Given the description of an element on the screen output the (x, y) to click on. 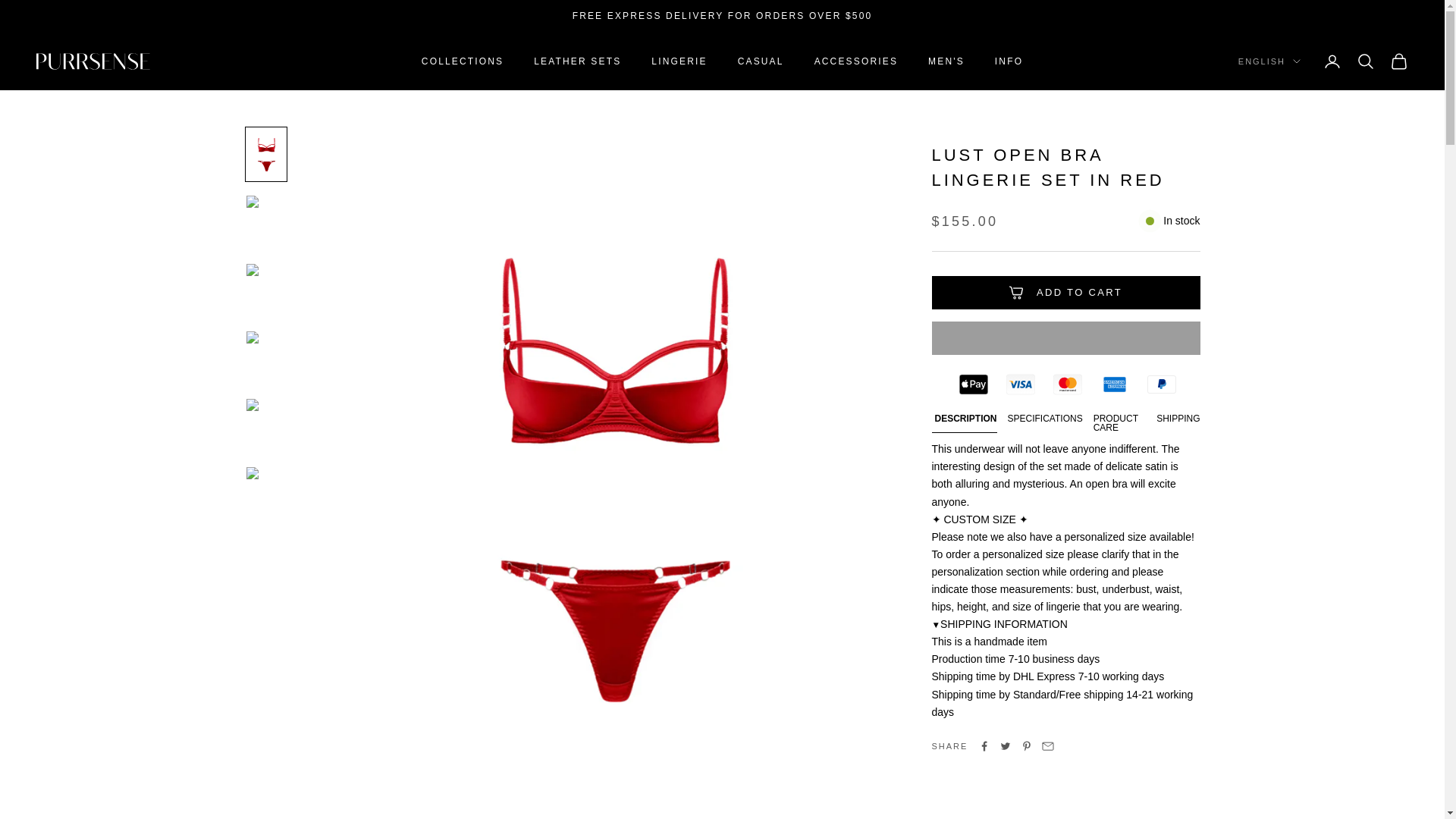
Purrsense (92, 62)
MEN'S (945, 61)
ENGLISH (1269, 61)
